Given the description of an element on the screen output the (x, y) to click on. 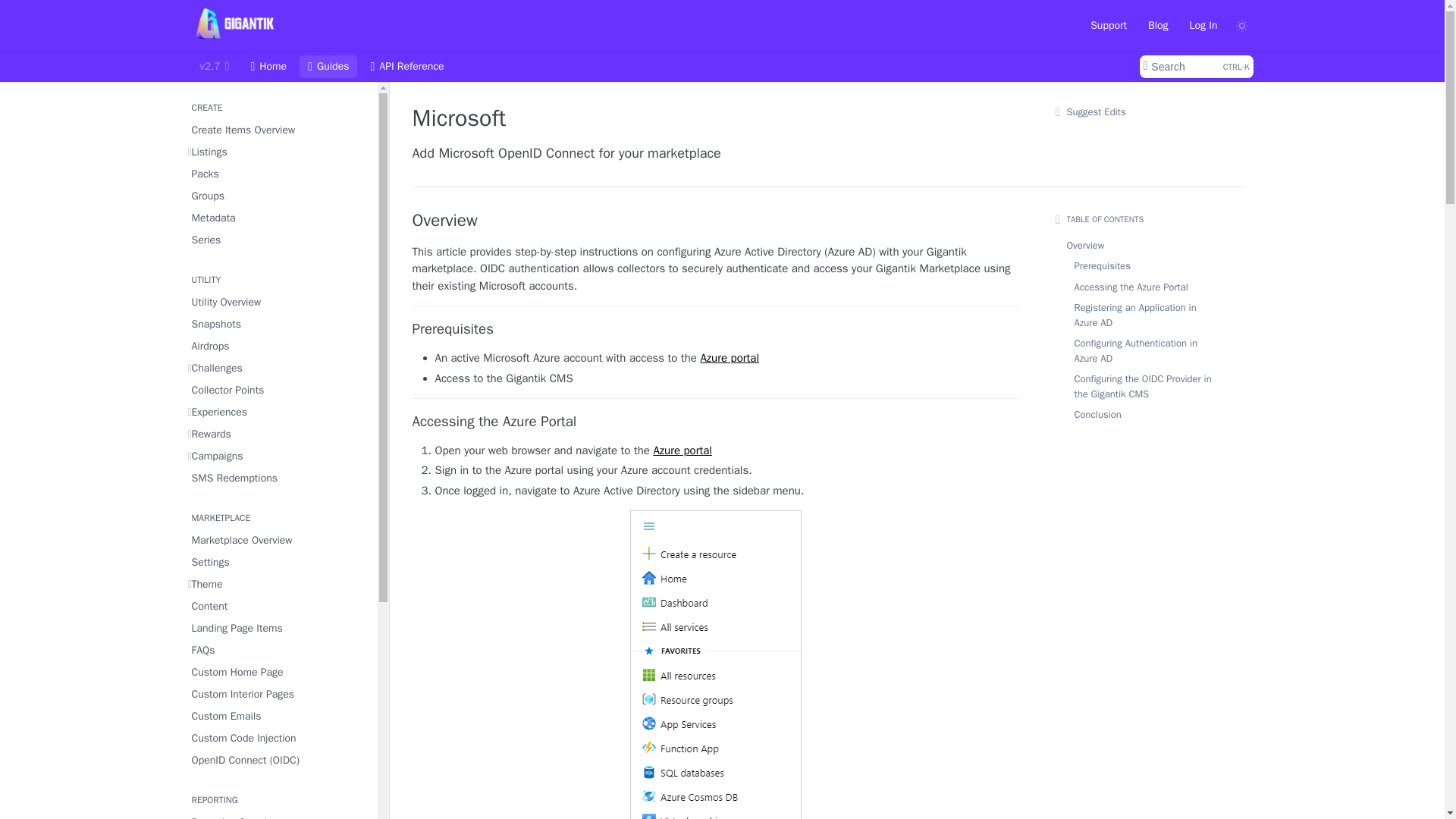
Accessing the Azure Portal (1195, 66)
Experiences (715, 421)
Airdrops (277, 412)
Support (277, 345)
API Reference (1108, 24)
Utility Overview (406, 66)
Challenges (277, 301)
Blog (277, 367)
Prerequisites (1158, 24)
